Given the description of an element on the screen output the (x, y) to click on. 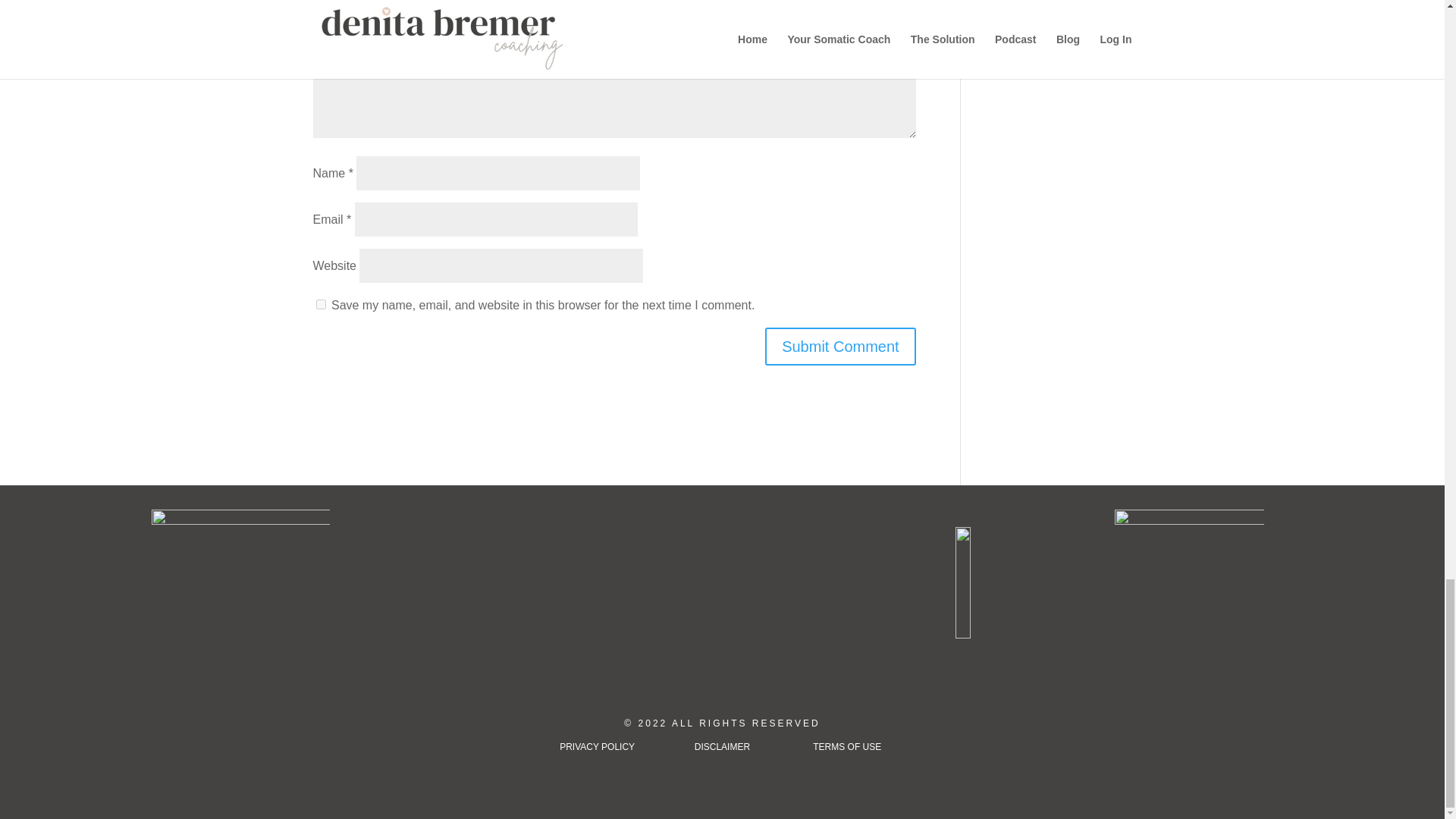
coach (240, 598)
EHS Badge - Transparent Background (1189, 584)
Submit Comment (840, 346)
yes (319, 304)
Submit Comment (840, 346)
